Given the description of an element on the screen output the (x, y) to click on. 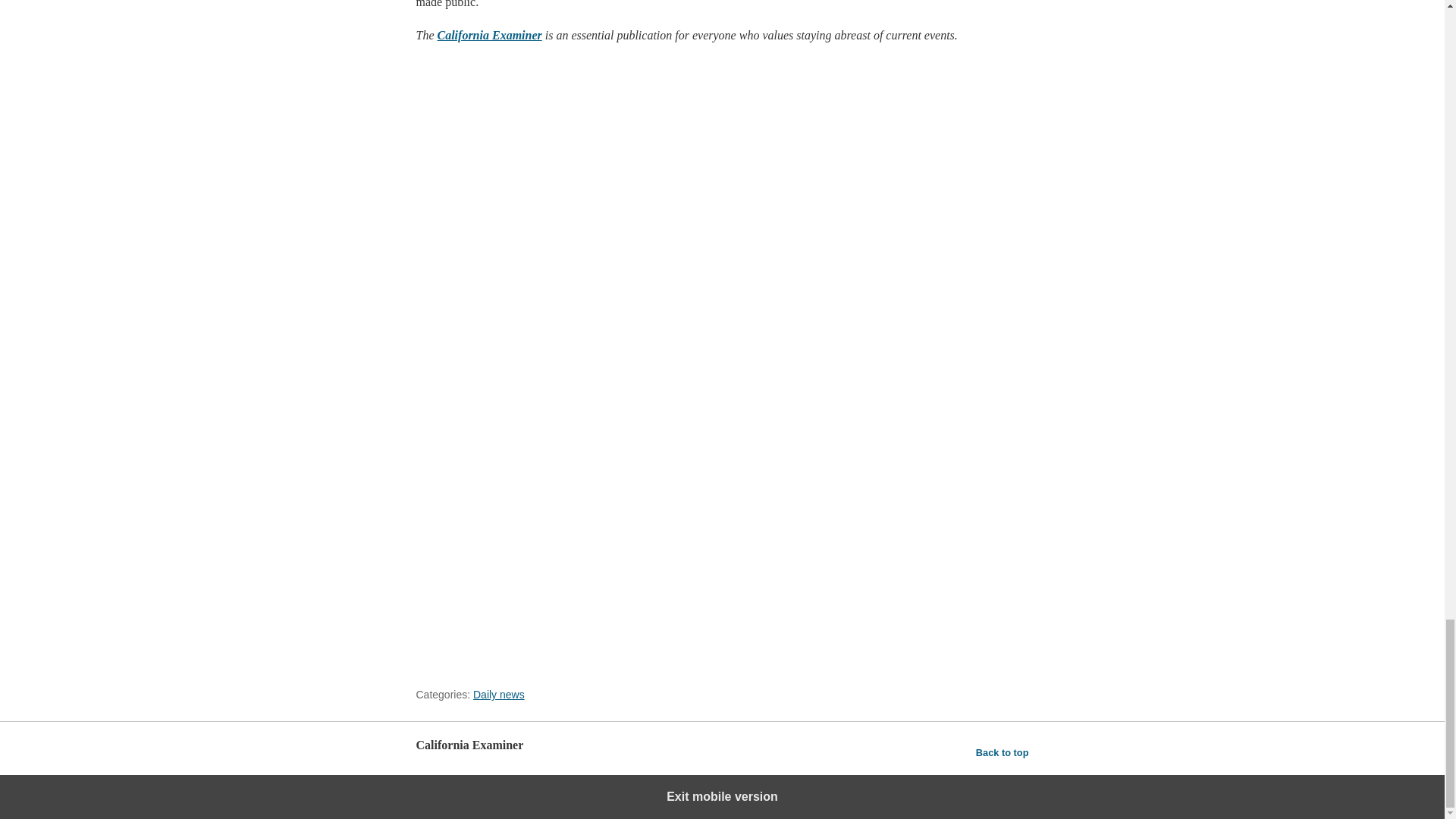
Daily news (498, 694)
Back to top (1002, 752)
California Examiner (488, 34)
